Given the description of an element on the screen output the (x, y) to click on. 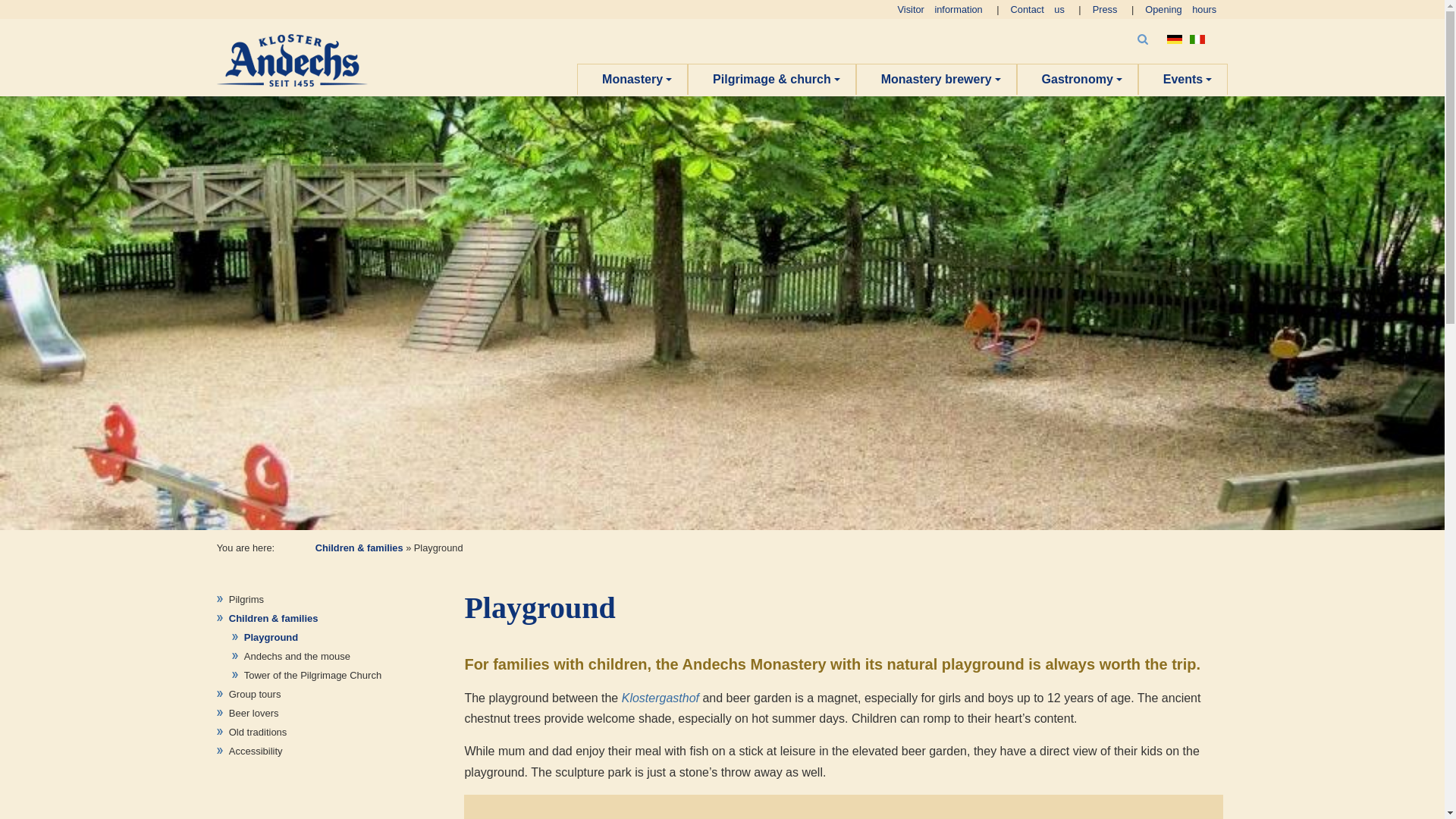
Contact us (1037, 9)
Monastery (632, 79)
Visitor information (940, 9)
Visitor information (940, 9)
Opening hours (1179, 9)
Monastery (632, 79)
Press (1105, 9)
Press (1105, 9)
Contact us (1037, 9)
Opening hours (1179, 9)
